Given the description of an element on the screen output the (x, y) to click on. 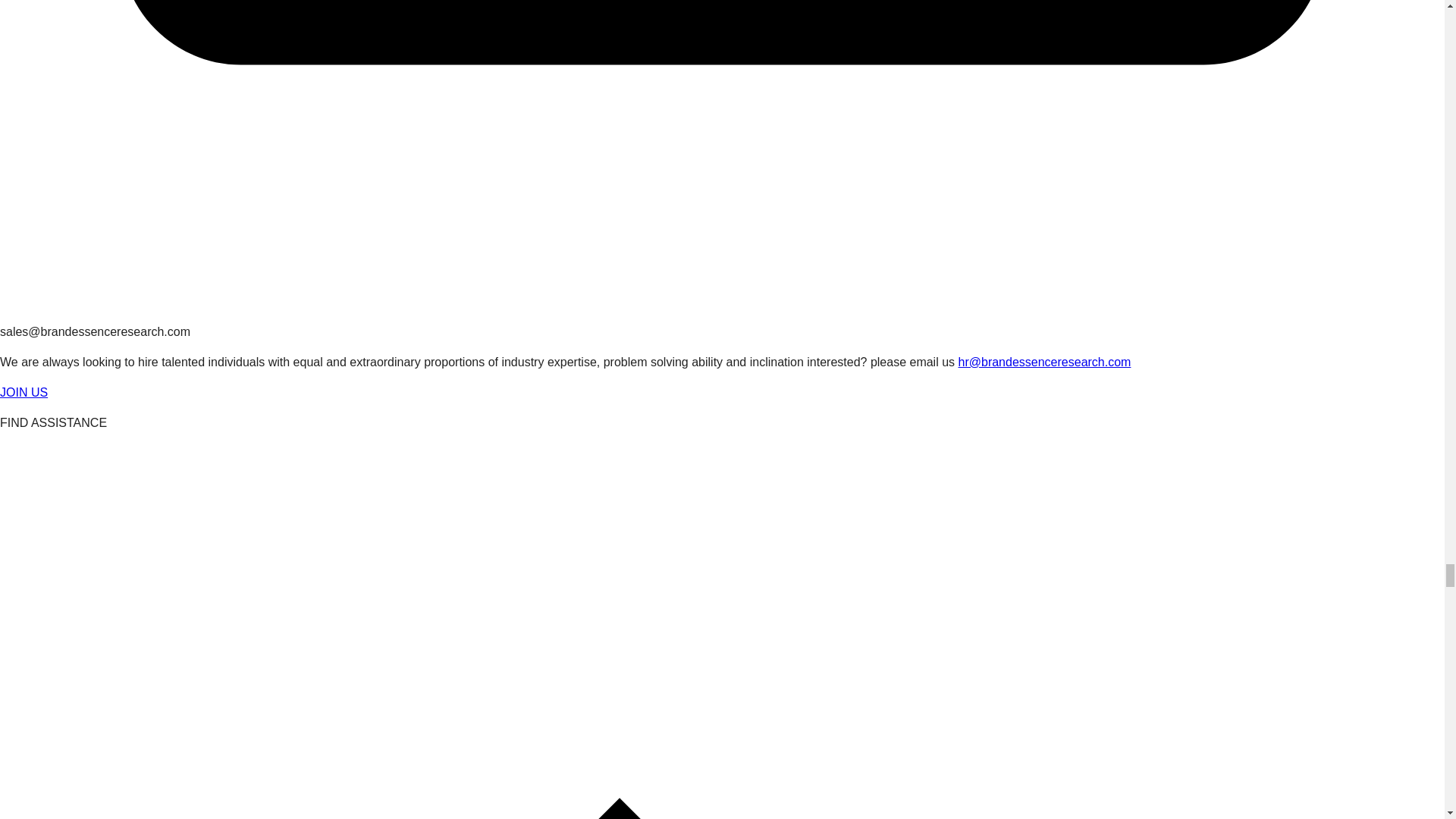
JOIN US (24, 391)
